Given the description of an element on the screen output the (x, y) to click on. 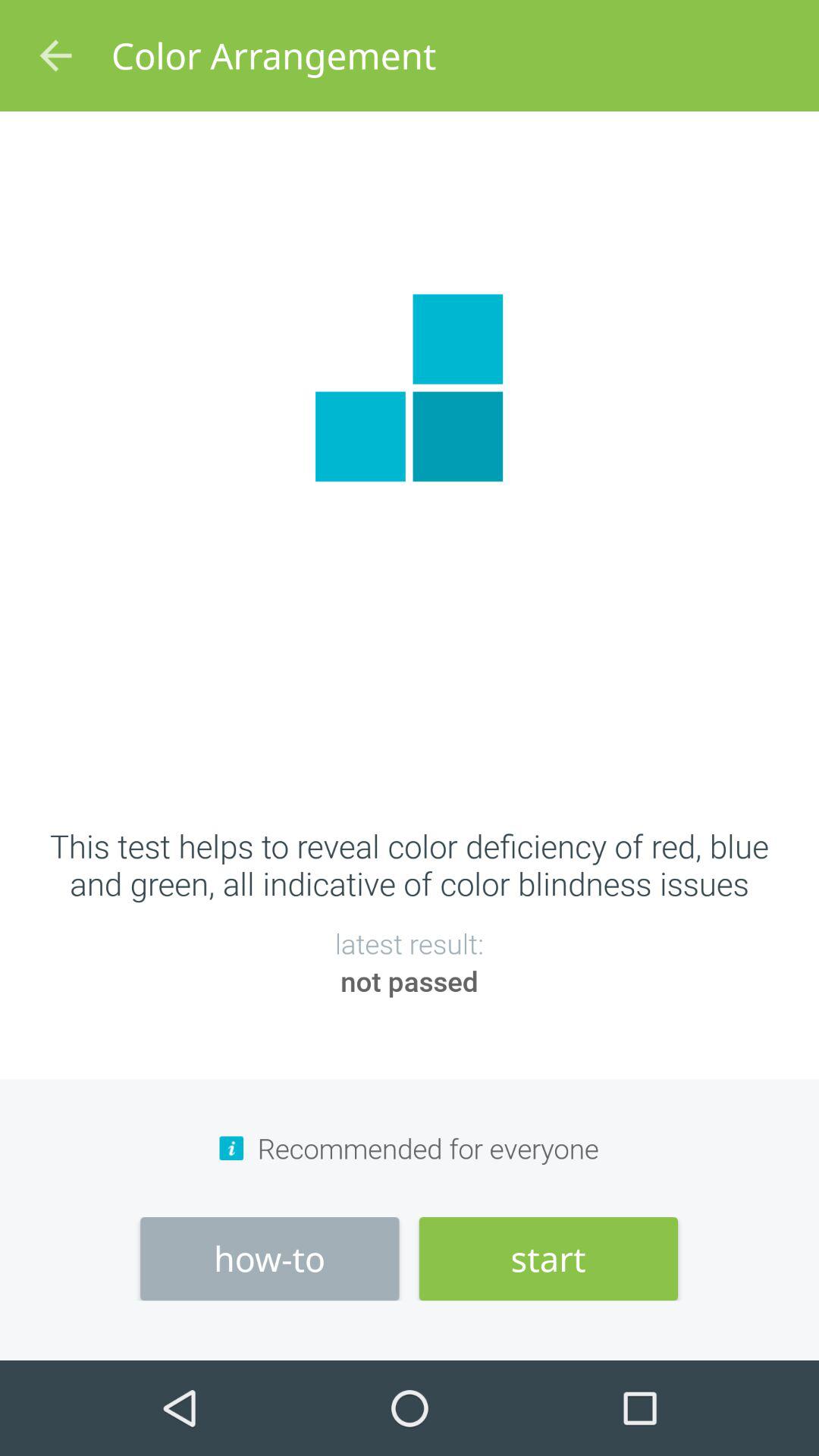
open icon at the top left corner (55, 55)
